Given the description of an element on the screen output the (x, y) to click on. 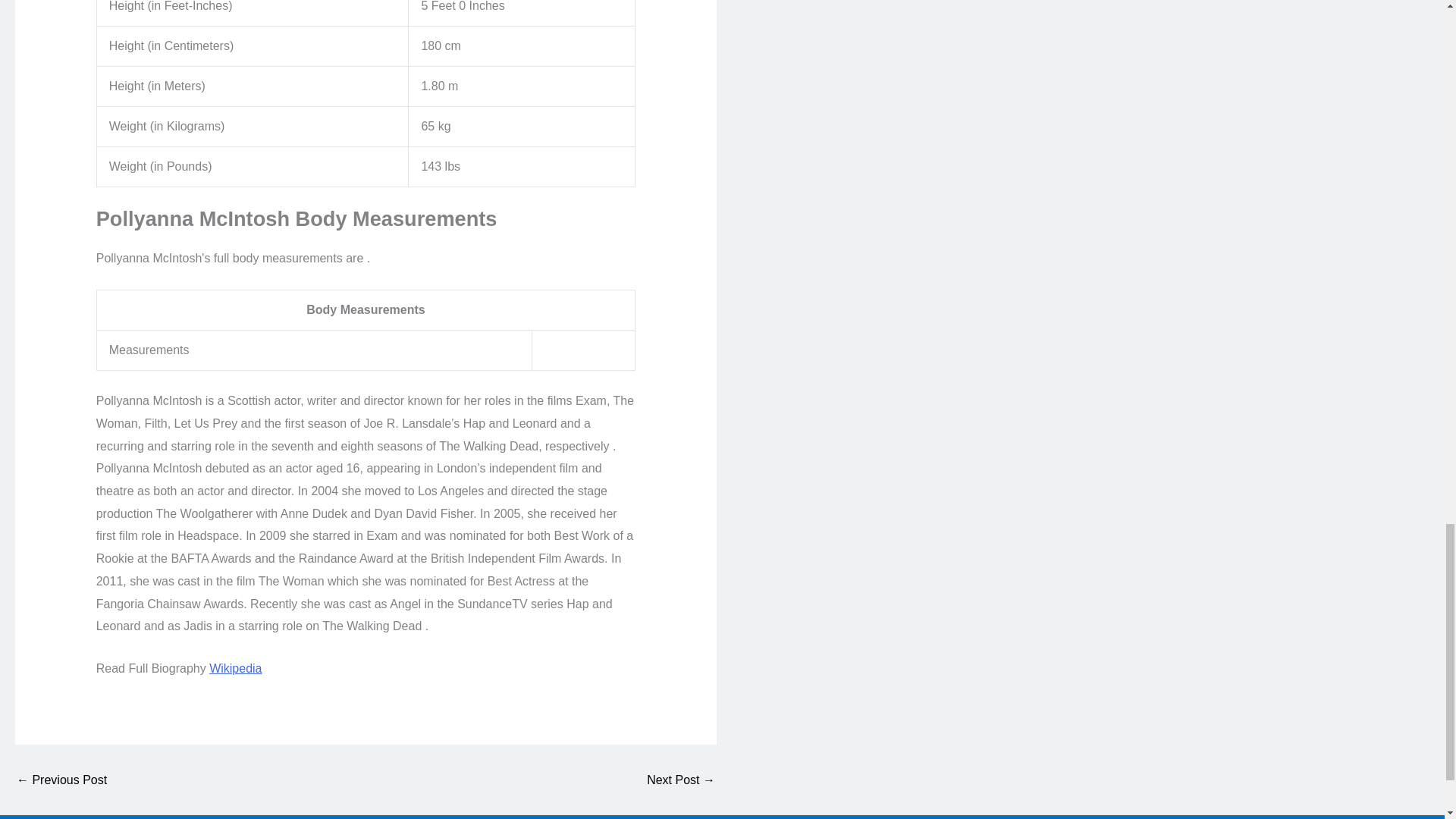
Wikipedia (235, 667)
Chloe Marshall (61, 779)
Kate Garraway (680, 779)
